Given the description of an element on the screen output the (x, y) to click on. 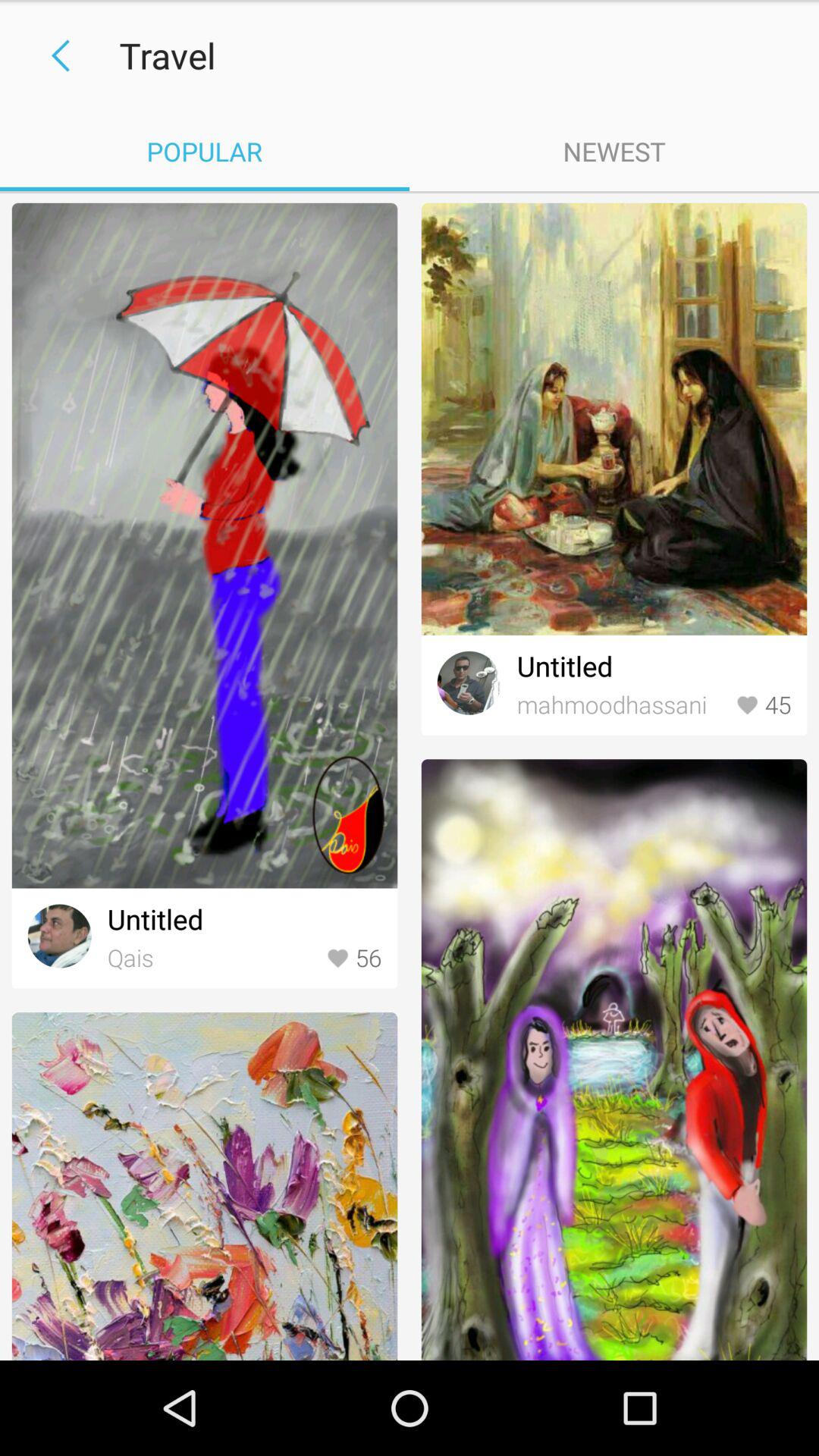
select icon to the right of qais (353, 958)
